Given the description of an element on the screen output the (x, y) to click on. 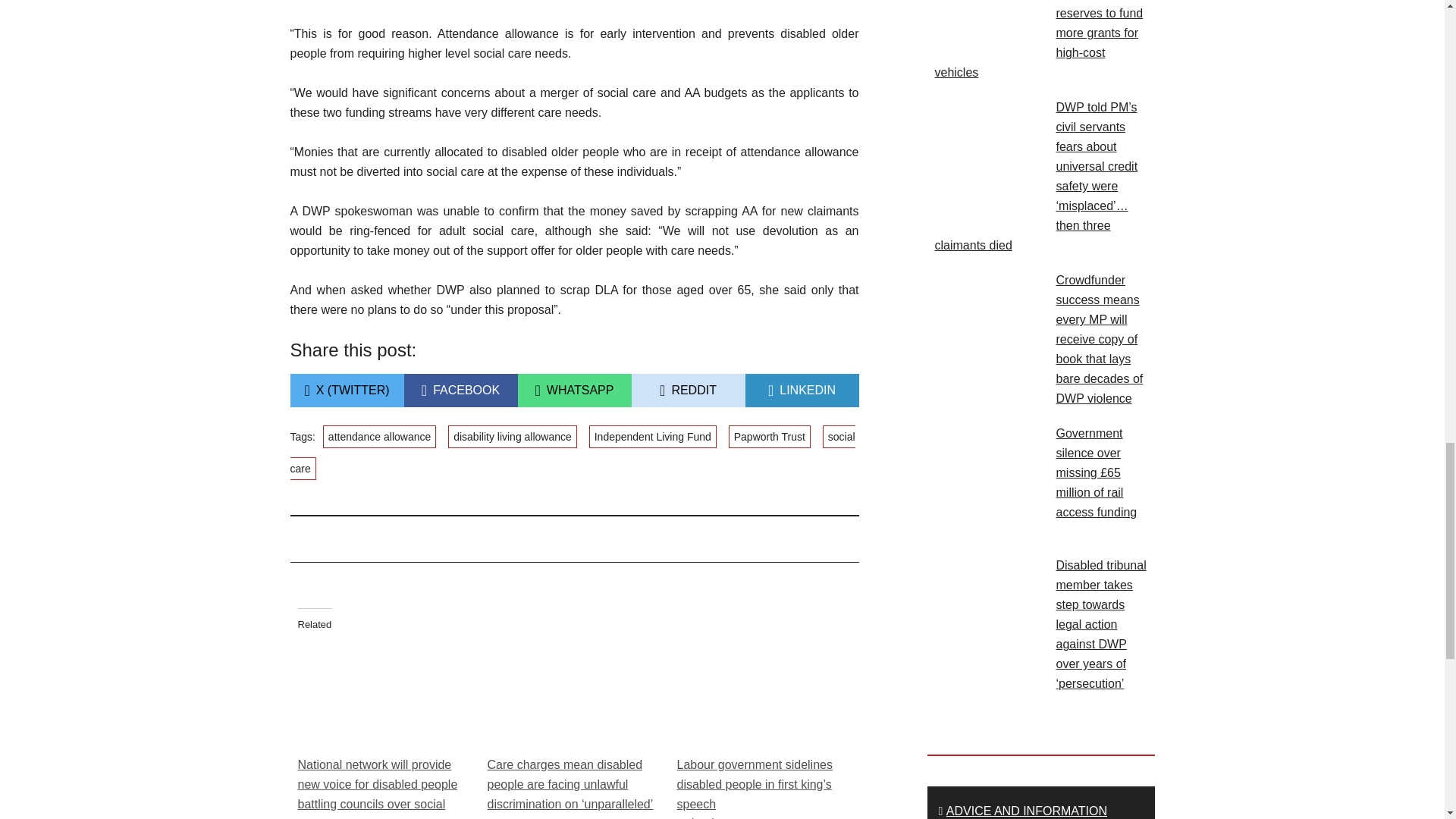
Independent Living Fund (573, 390)
Papworth Trust (652, 436)
disability living allowance (459, 390)
social care (687, 390)
attendance allowance (769, 436)
